Given the description of an element on the screen output the (x, y) to click on. 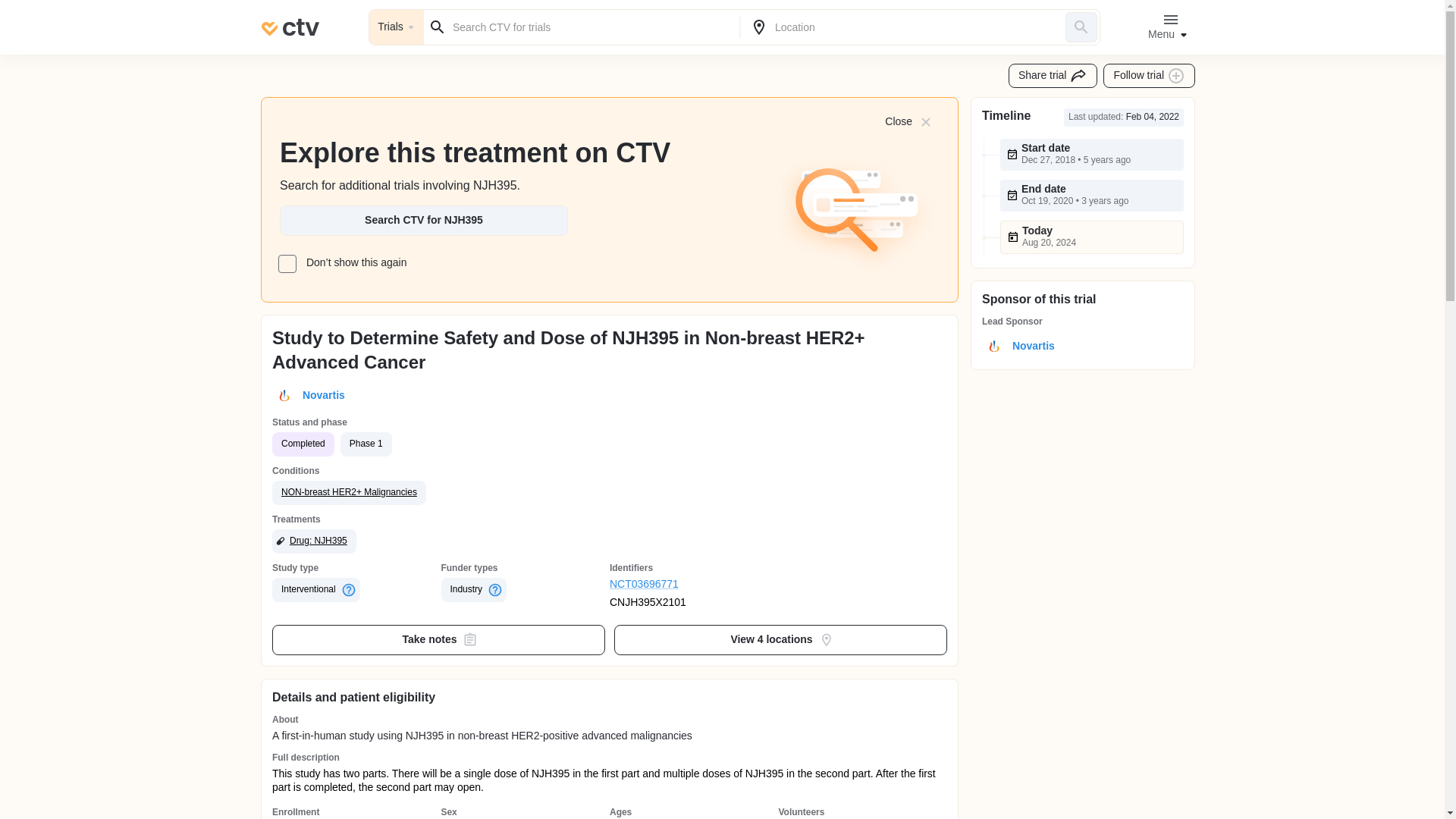
Trials (396, 27)
Search CTV for NJH395 (423, 220)
View 4 locations (780, 639)
Take notes (438, 639)
Follow trial (1149, 75)
Novartis (321, 395)
Novartis (1030, 345)
Close (907, 121)
NCT03696771 (694, 584)
Share trial (1053, 75)
